Given the description of an element on the screen output the (x, y) to click on. 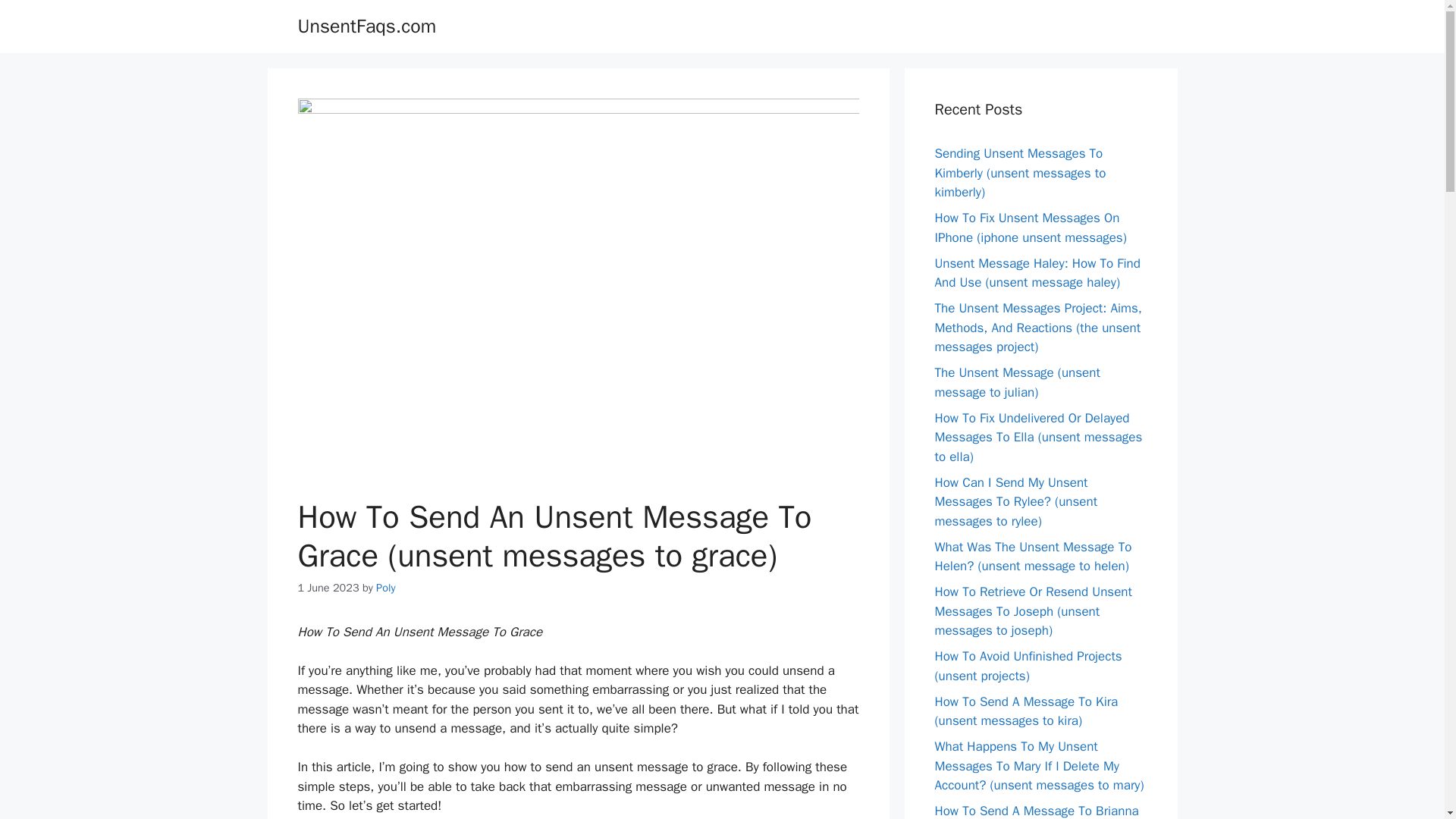
UnsentFaqs.com (366, 25)
Poly (384, 587)
View all posts by Poly (384, 587)
